Given the description of an element on the screen output the (x, y) to click on. 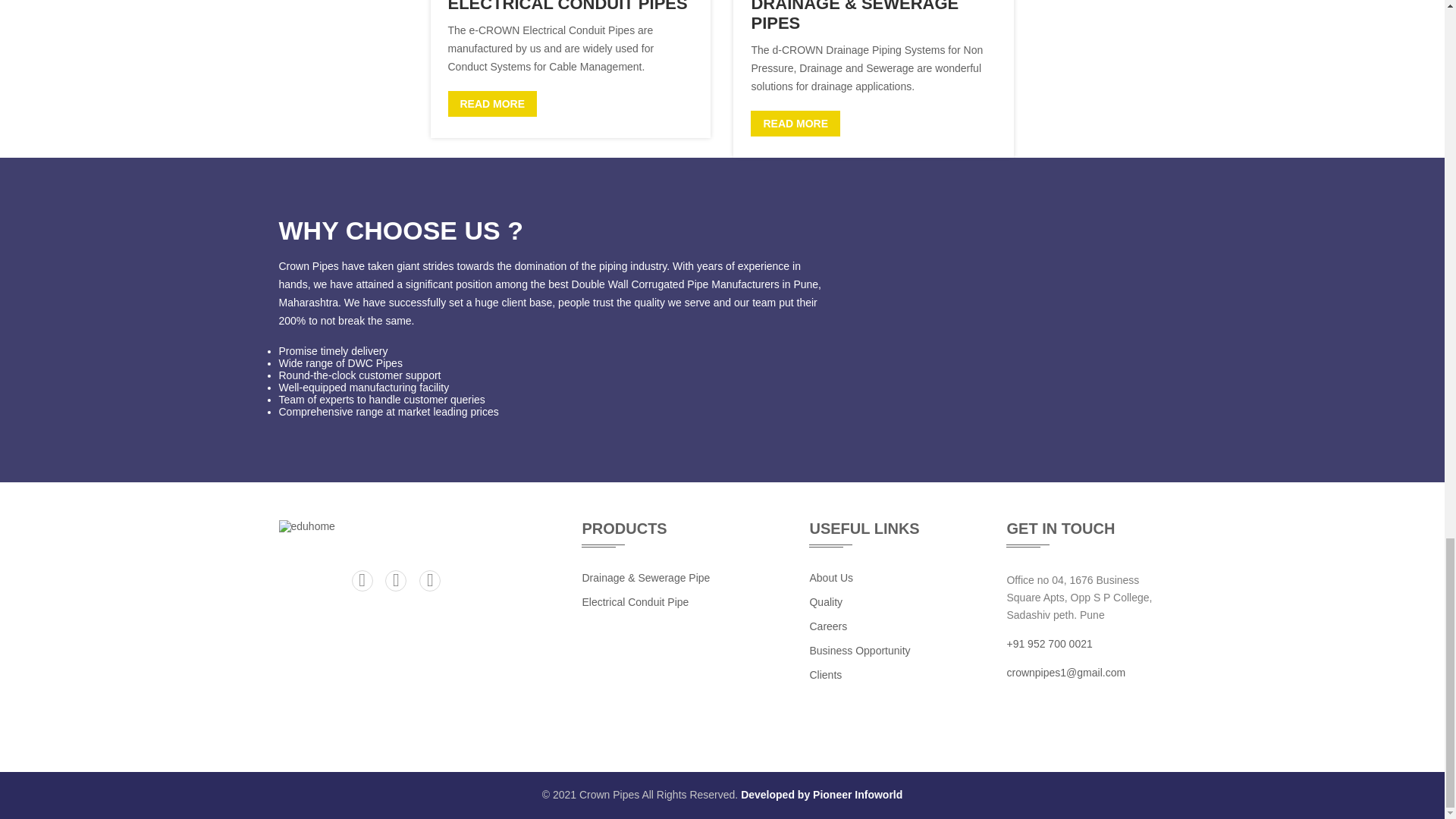
Quality (826, 602)
About Us (831, 577)
ELECTRICAL CONDUIT PIPES (566, 6)
Electrical Conduit Pipe (634, 602)
Careers (828, 625)
READ MORE (491, 103)
READ MORE (795, 123)
Business Opportunity (859, 650)
Clients (825, 674)
